Given the description of an element on the screen output the (x, y) to click on. 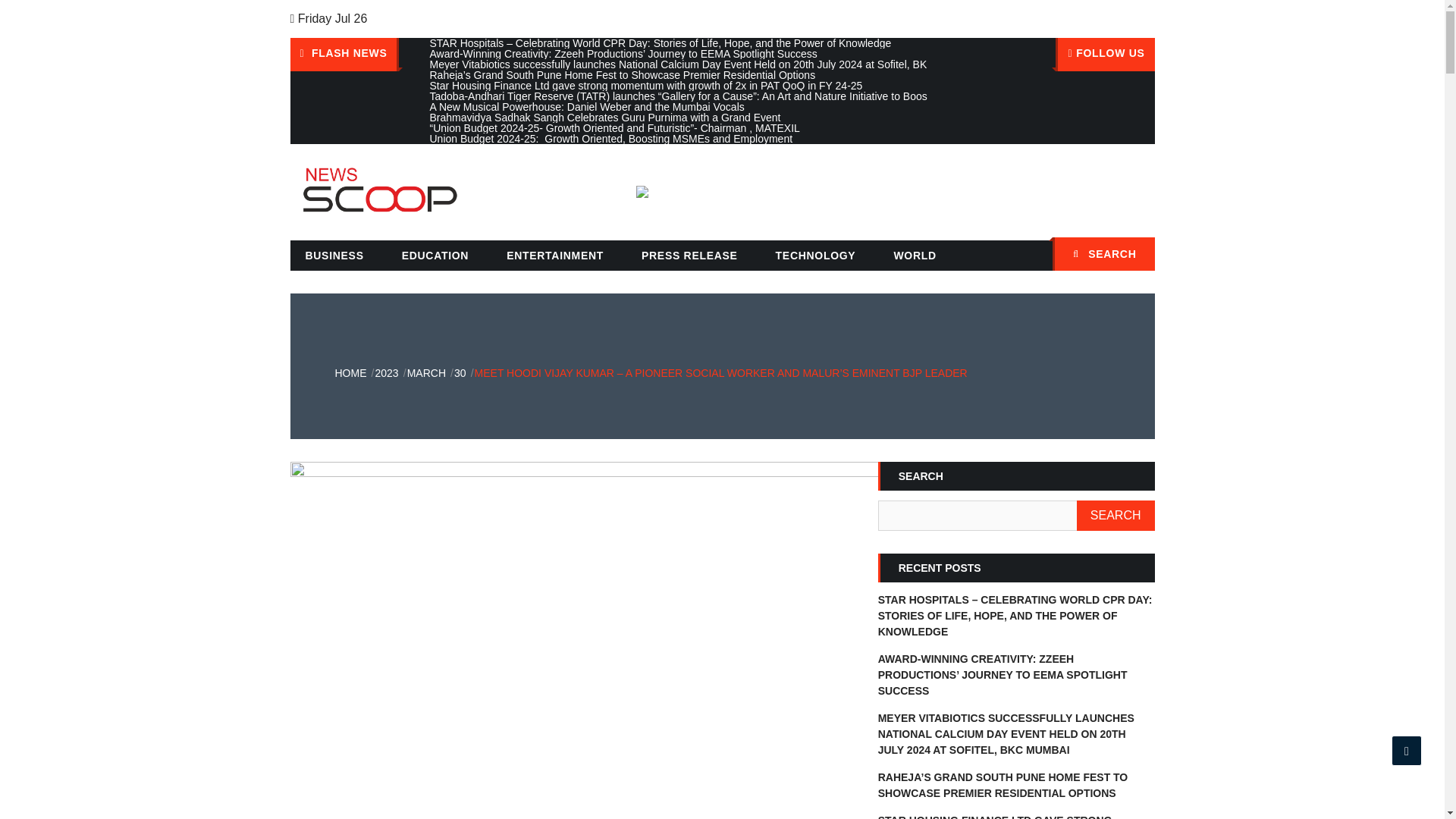
PRESS RELEASE (689, 255)
Search (1135, 255)
SEARCH (1103, 254)
2023 (385, 372)
Go to Top (1406, 750)
HOME (350, 372)
MARCH (426, 372)
ENTERTAINMENT (555, 255)
BUSINESS (333, 255)
TECHNOLOGY (815, 255)
30 (459, 372)
Search (1135, 255)
Search (1135, 255)
WORLD (913, 255)
SEARCH (1115, 515)
